Given the description of an element on the screen output the (x, y) to click on. 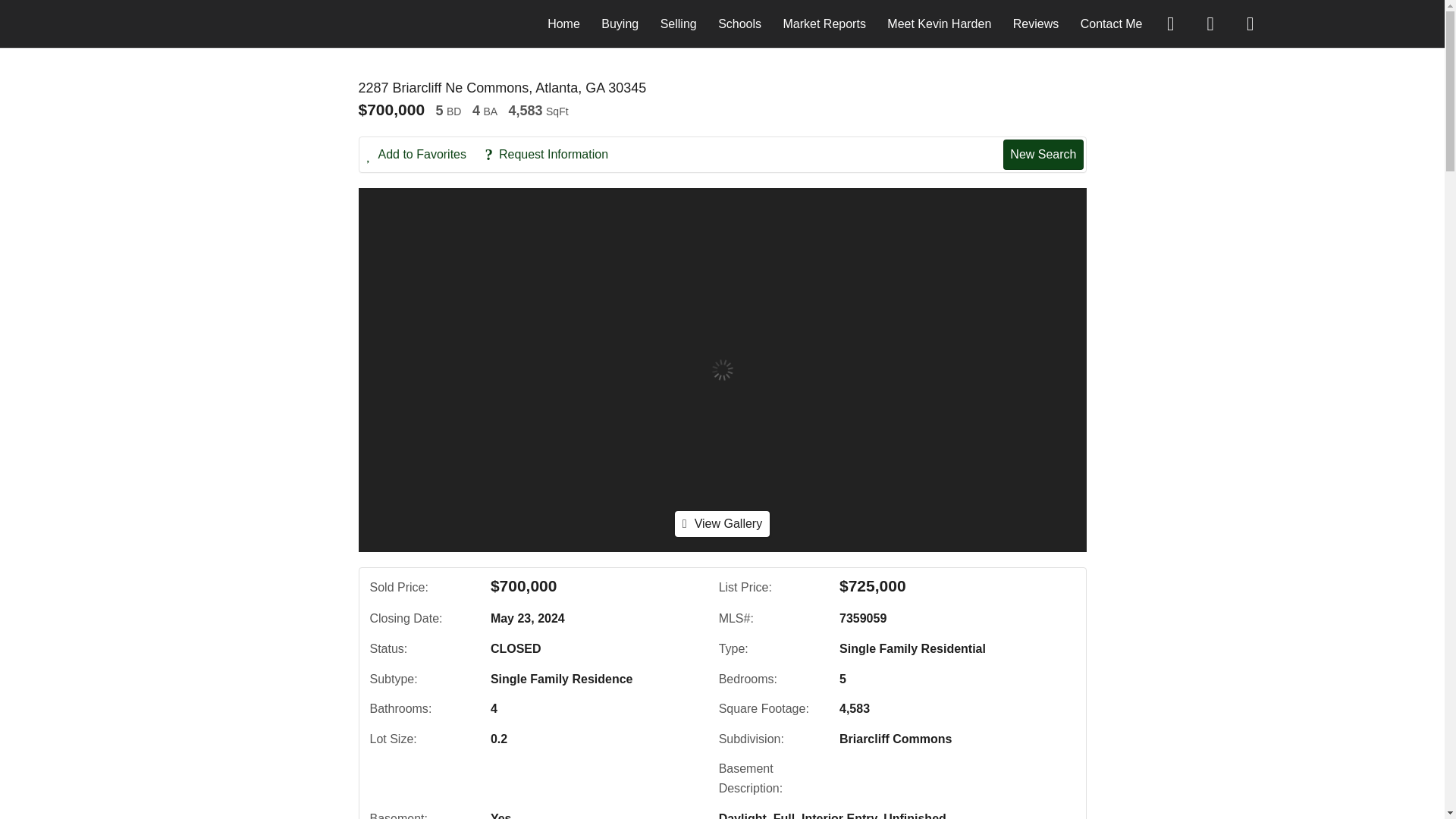
View Gallery (722, 522)
Market Reports (824, 23)
Selling (679, 23)
Reviews (1035, 23)
Meet Kevin Harden (938, 23)
Buying (620, 23)
Home (563, 23)
New Search (1043, 154)
Request Information (553, 154)
View Gallery (722, 524)
